Given the description of an element on the screen output the (x, y) to click on. 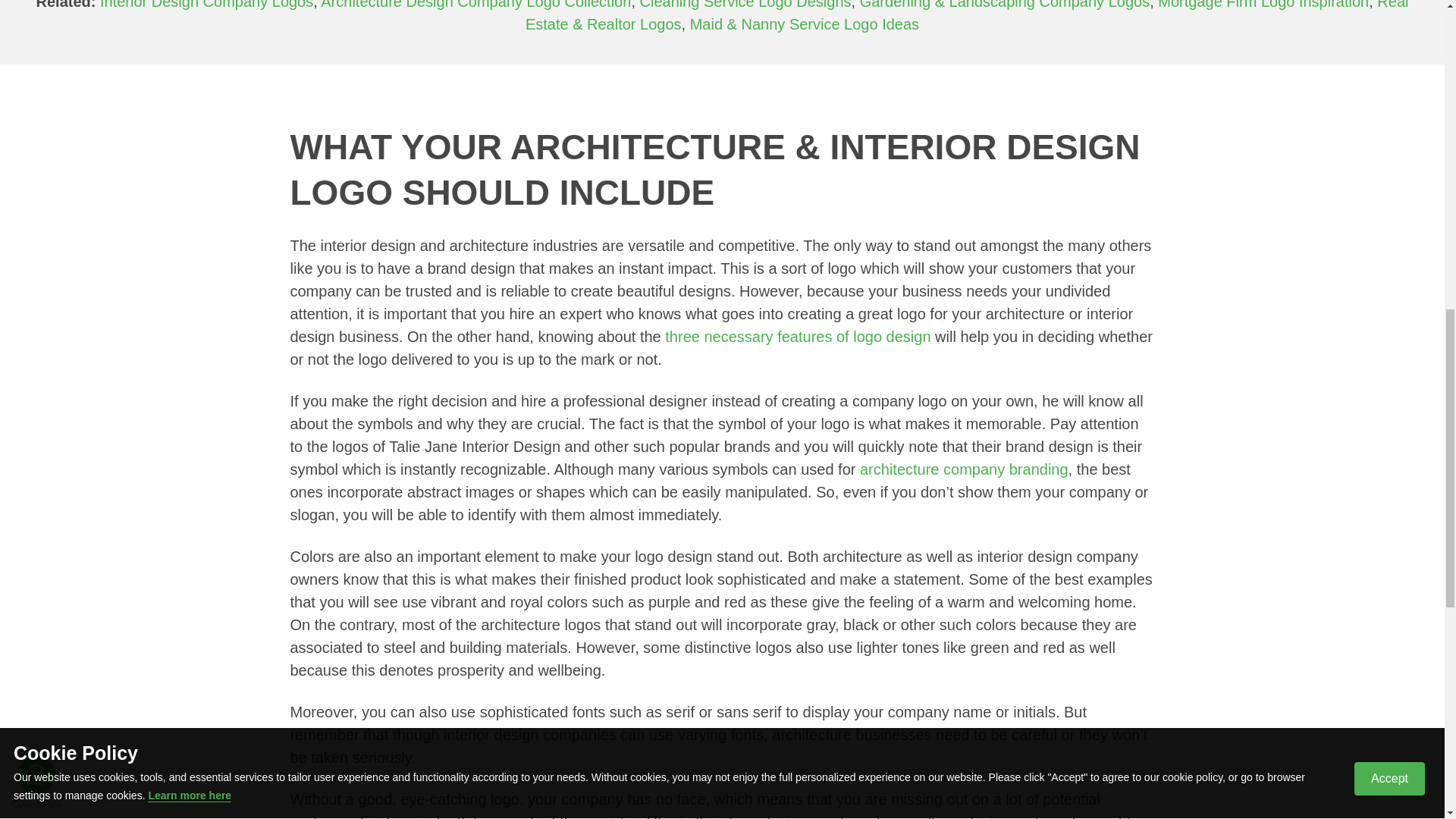
Cleaning Service Logo Designs (745, 4)
Interior Design Company Logos (206, 4)
three necessary features of logo design (799, 336)
Mortgage Firm Logo Inspiration (1262, 4)
Architecture Design Company Logo Collection (475, 4)
architecture company branding (964, 469)
